Given the description of an element on the screen output the (x, y) to click on. 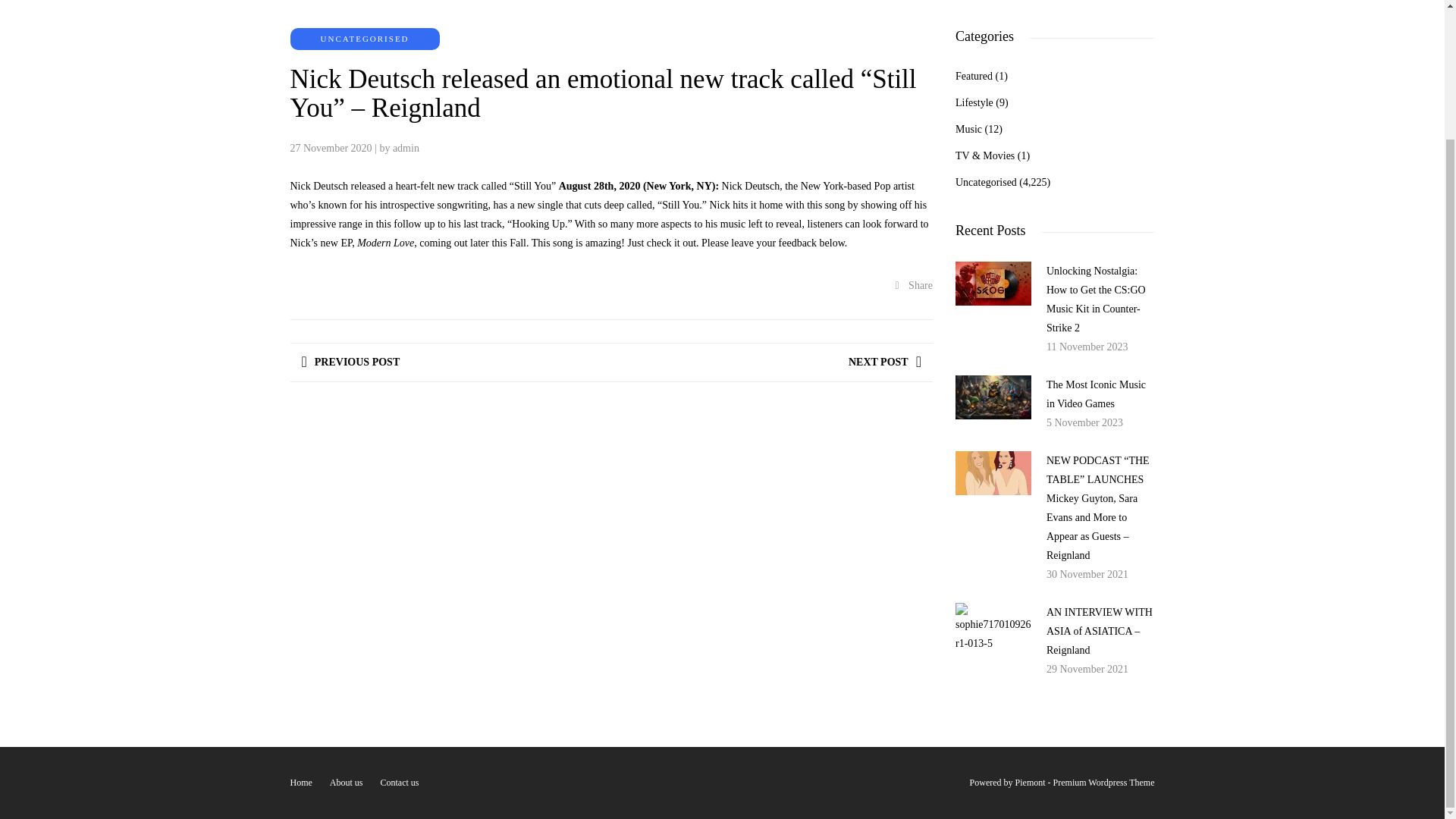
Uncategorised (985, 182)
Home (300, 782)
Featured (973, 75)
PREVIOUS POST (350, 362)
The Most Iconic Music in Video Games (1095, 394)
Music (968, 129)
NEXT POST (884, 362)
Share (914, 285)
Piemont - Premium Wordpress Theme (1084, 782)
